Given the description of an element on the screen output the (x, y) to click on. 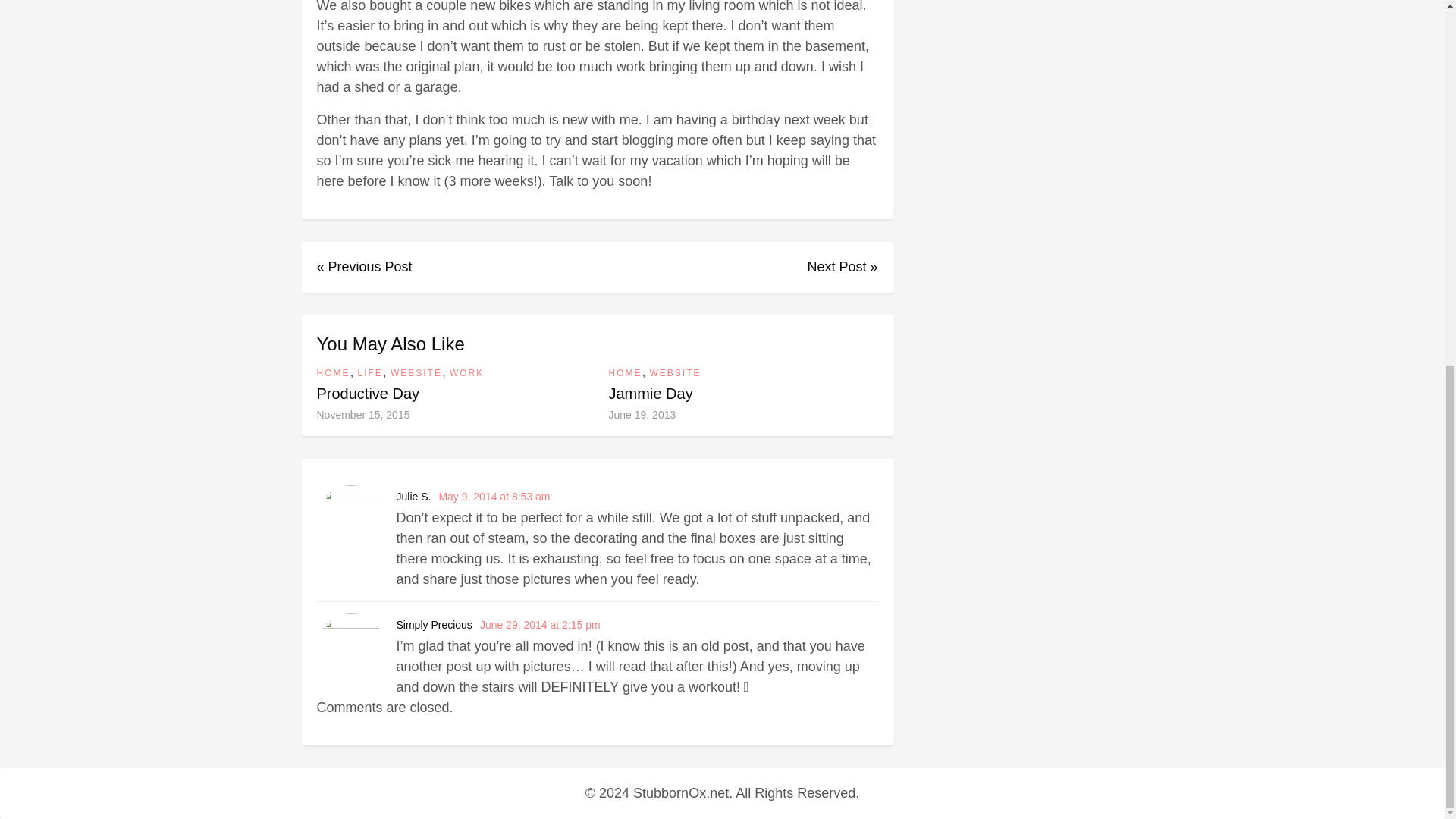
LIFE (370, 373)
HOME (625, 373)
WORK (466, 373)
Productive Day (368, 393)
Jammie Day (650, 393)
HOME (333, 373)
May 9, 2014 at 8:53 am (494, 496)
WEBSITE (416, 373)
June 29, 2014 at 2:15 pm (539, 625)
Julie S. (413, 496)
